Given the description of an element on the screen output the (x, y) to click on. 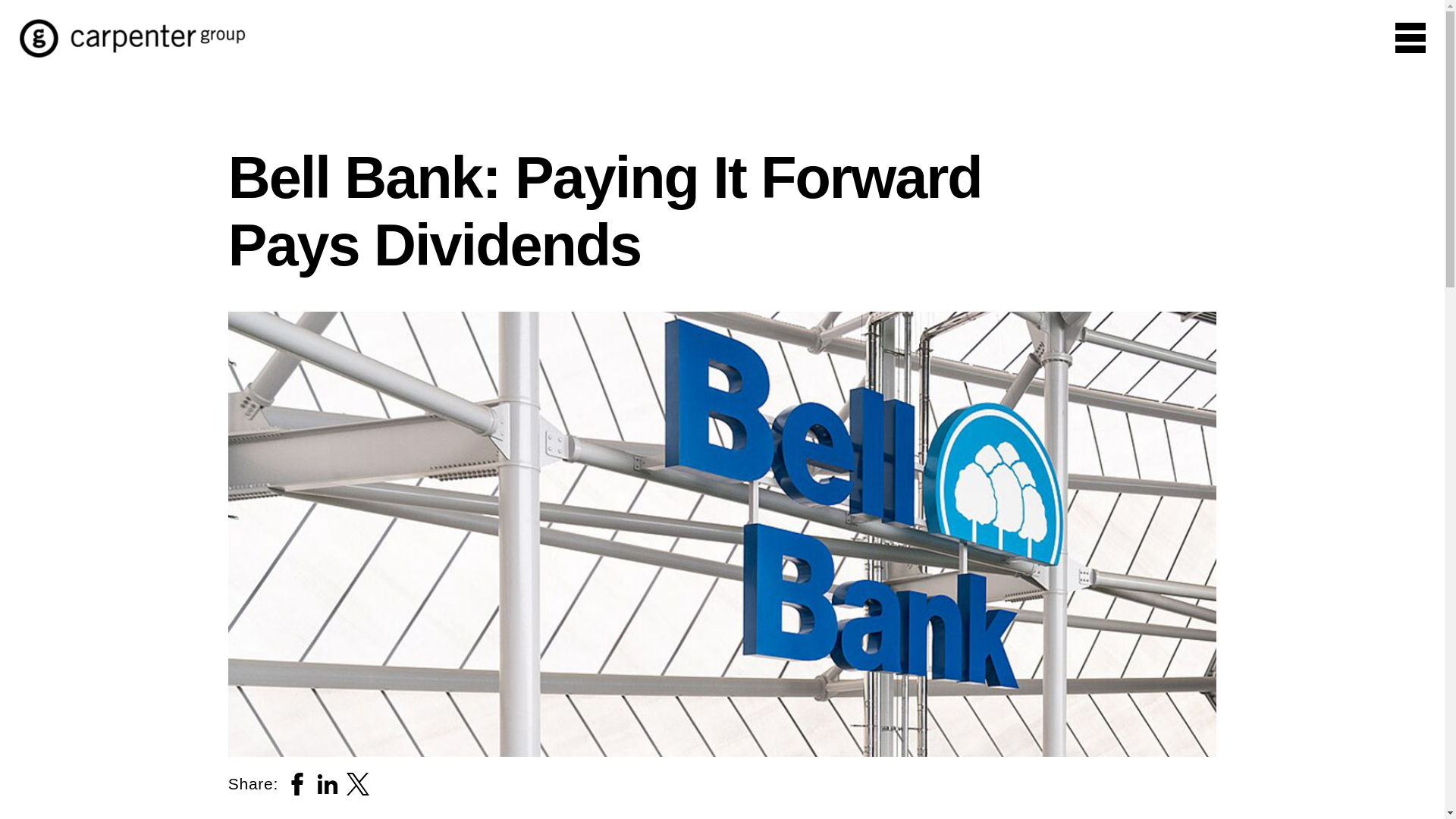
Carpenter Group (132, 53)
